Given the description of an element on the screen output the (x, y) to click on. 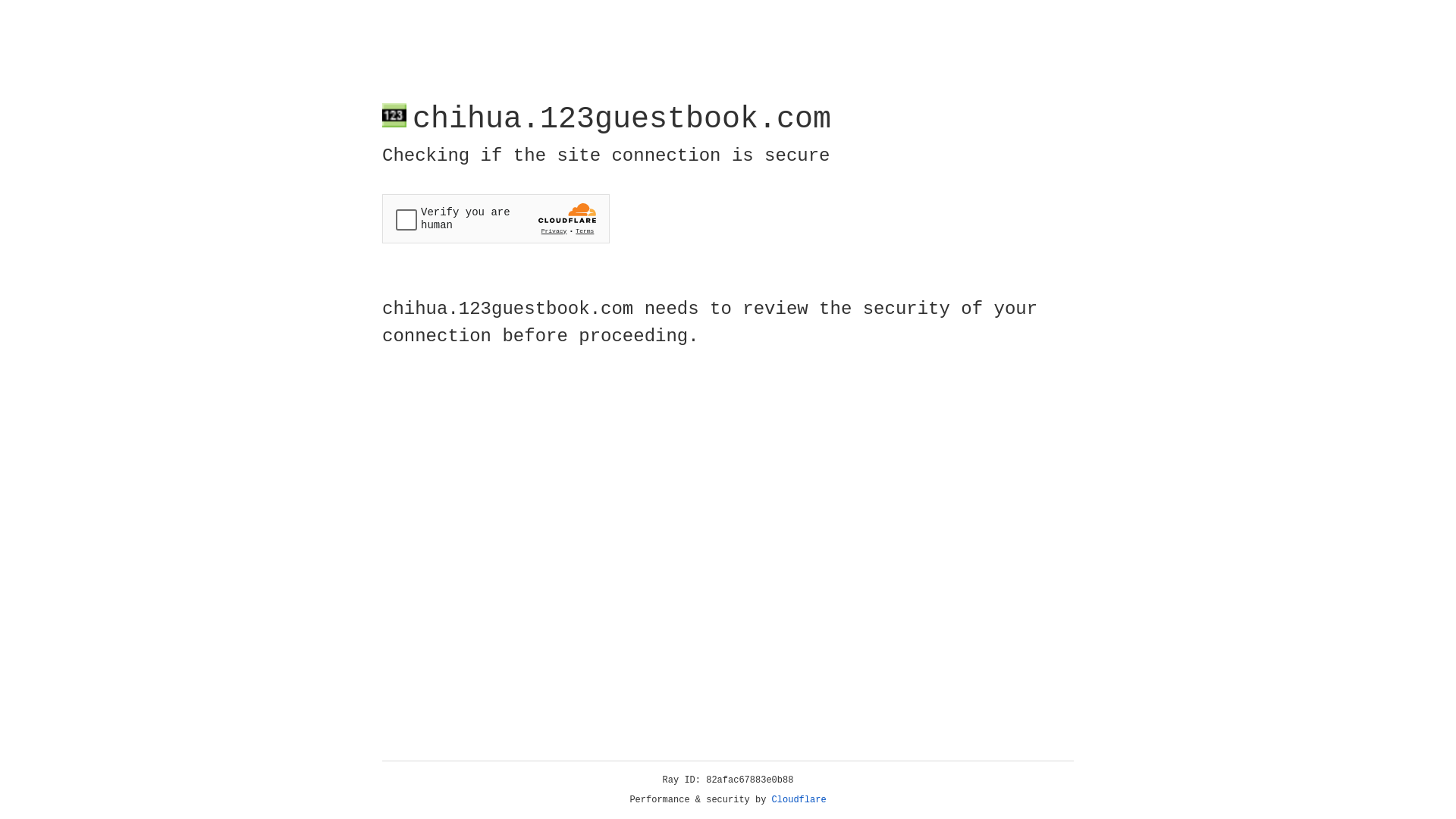
Cloudflare Element type: text (798, 799)
Widget containing a Cloudflare security challenge Element type: hover (495, 218)
